Given the description of an element on the screen output the (x, y) to click on. 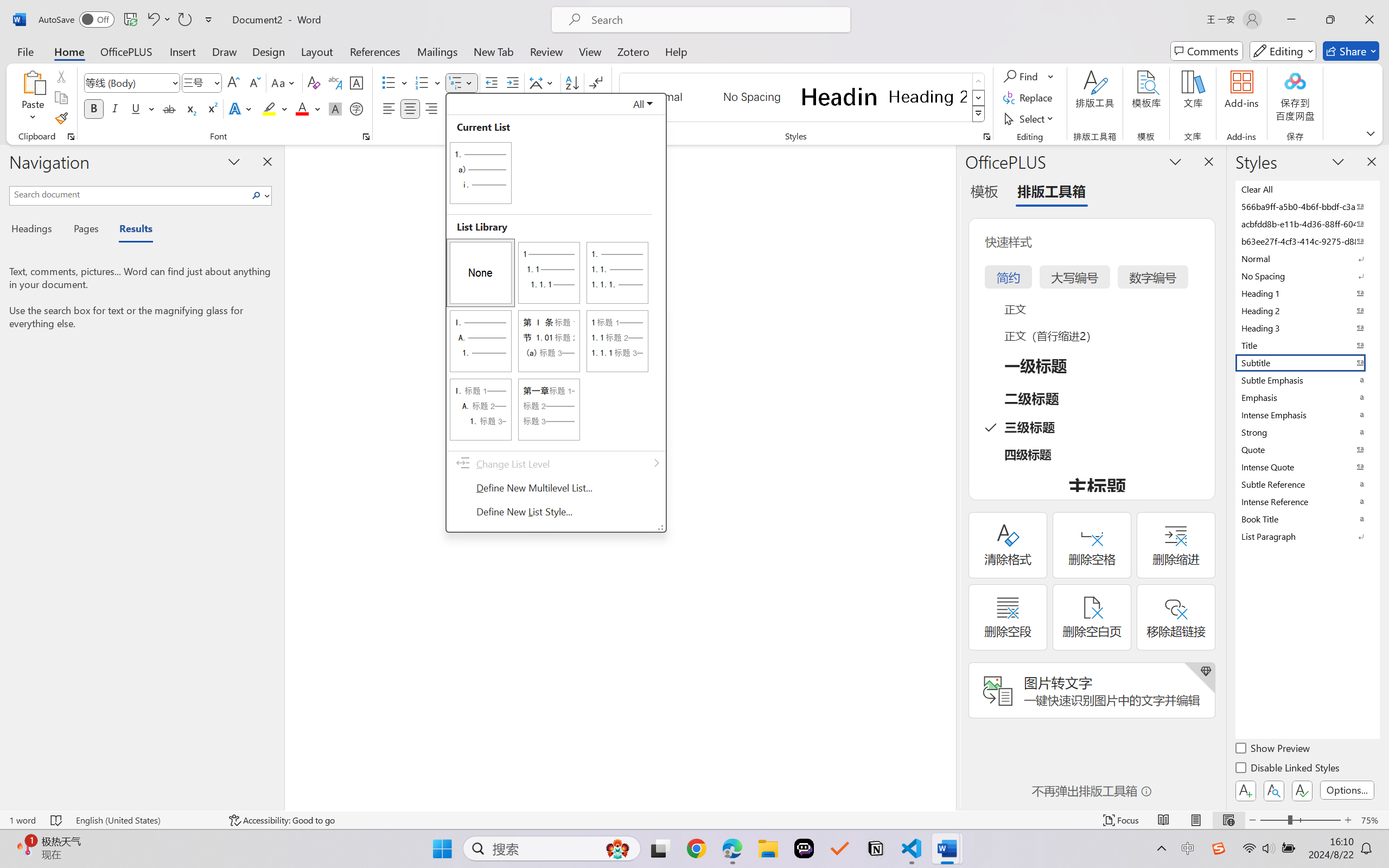
Spaces: 4 (1220, 836)
File (28, 10)
Explorer actions (112, 31)
Debug Console (Ctrl+Shift+Y) (275, 655)
New File... (117, 48)
Restore (1350, 10)
Maximize Panel Size (1362, 655)
Edit (48, 10)
Toggle Panel (Ctrl+J) (1278, 9)
Run and Debug (Ctrl+Shift+D) (13, 122)
Match Case (Alt+C) (1182, 65)
Close (Ctrl+F4) (351, 31)
Collapse Folders in Explorer (156, 48)
